Given the description of an element on the screen output the (x, y) to click on. 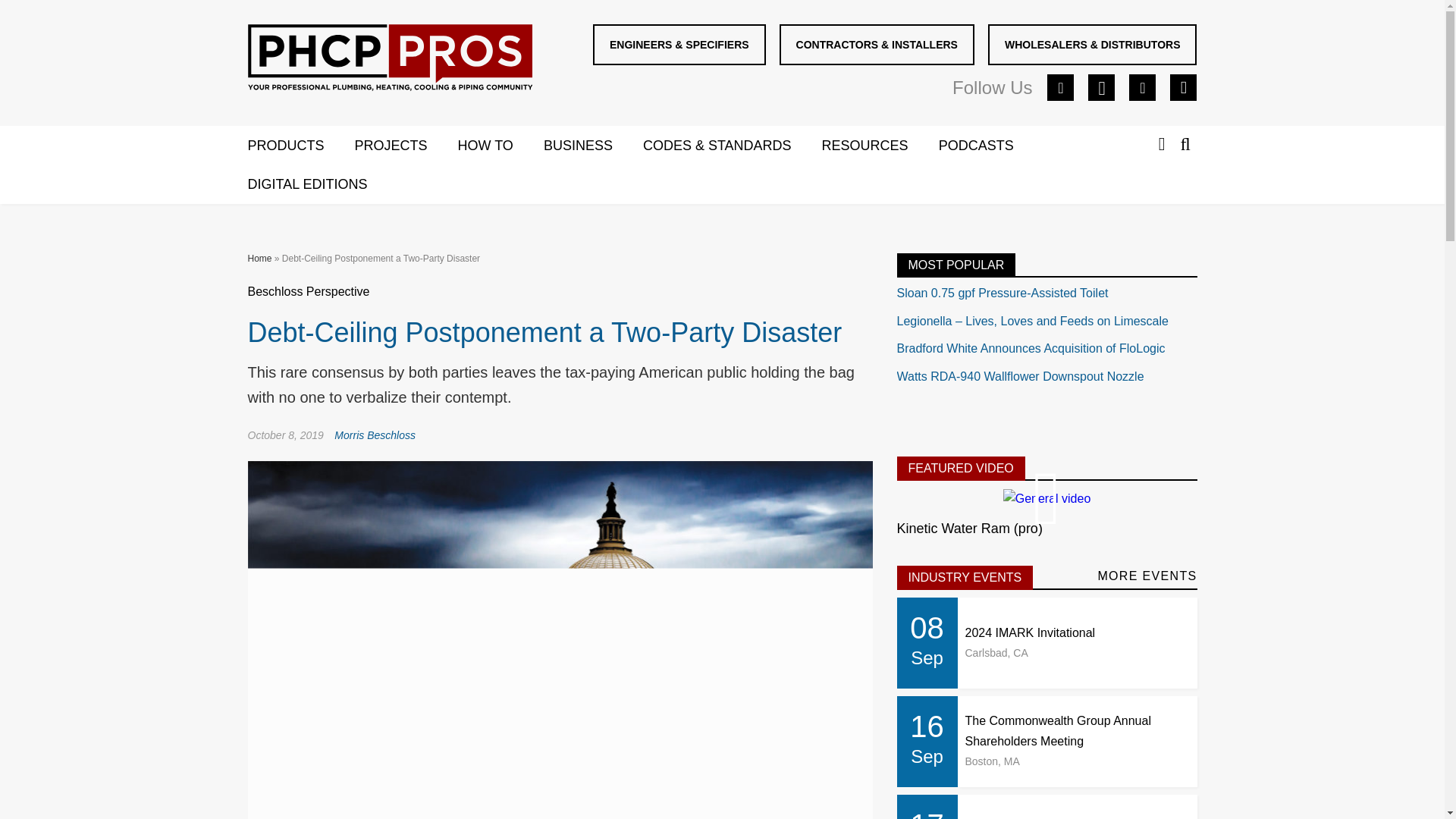
logo (389, 57)
PRODUCTS (300, 146)
BUSINESS (593, 146)
PROJECTS (406, 146)
HOW TO (500, 146)
logo (389, 60)
